Given the description of an element on the screen output the (x, y) to click on. 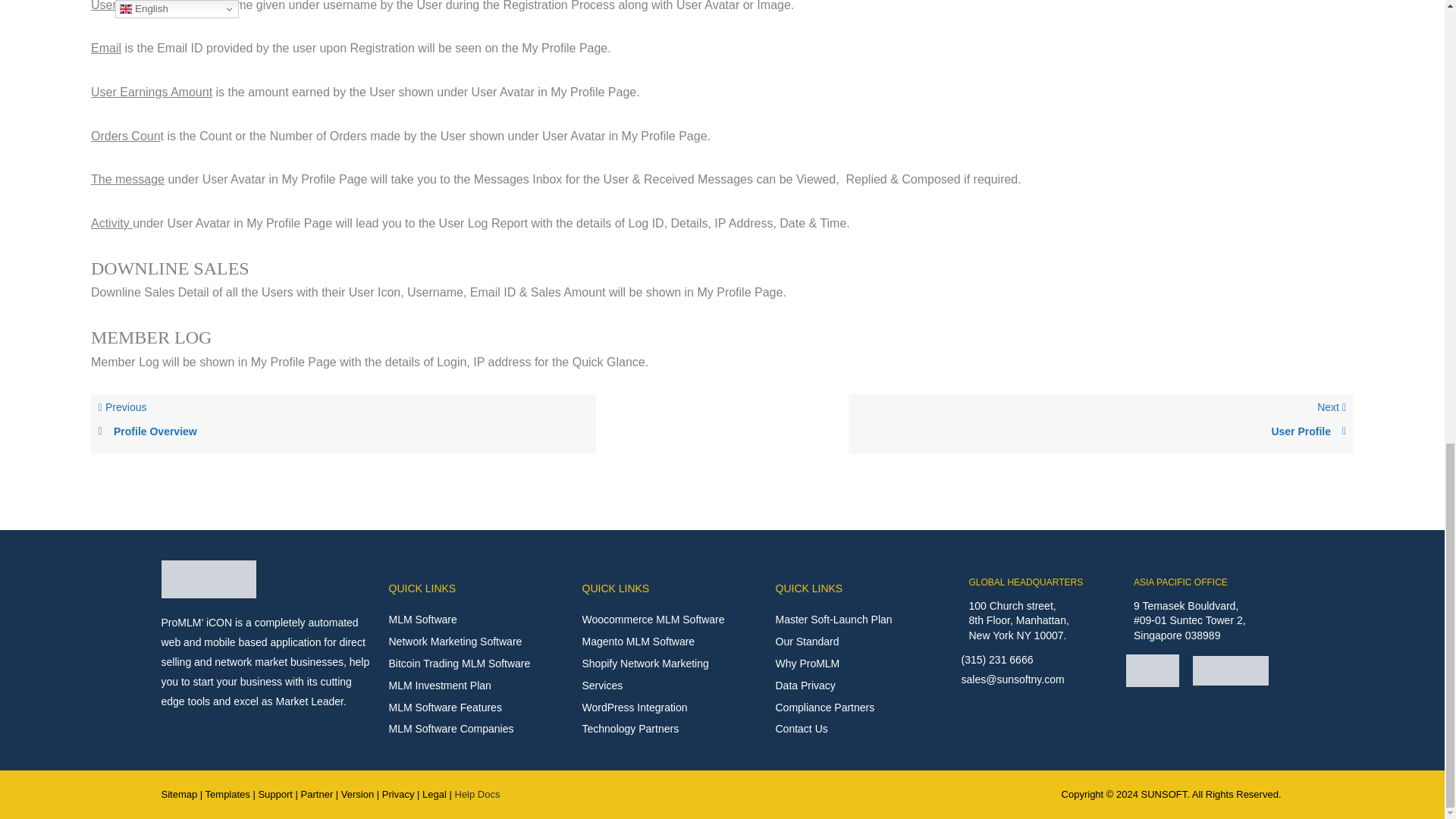
User Profile (1100, 431)
Profile Overview (343, 431)
